Given the description of an element on the screen output the (x, y) to click on. 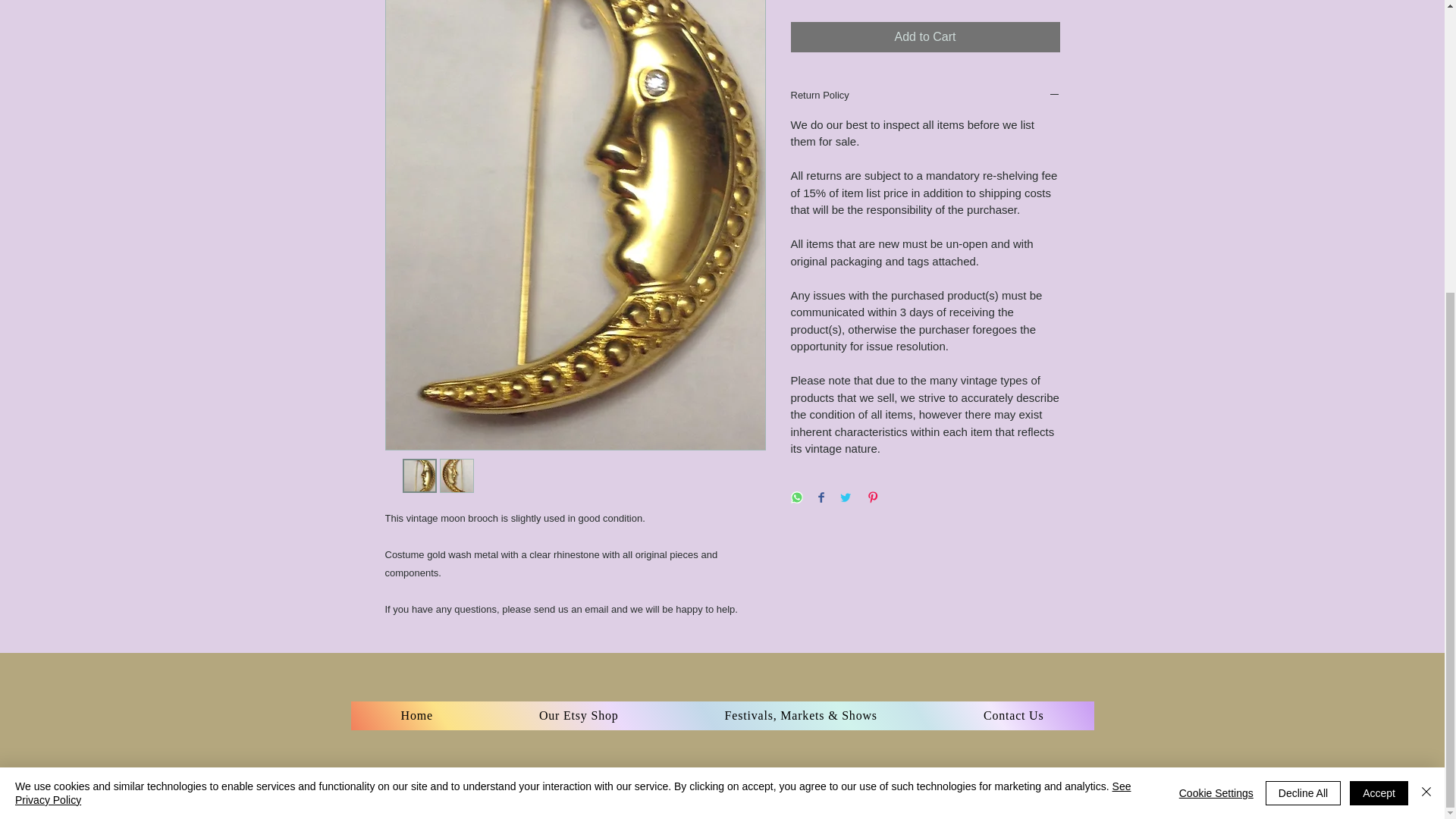
Decline All (1302, 344)
See Privacy Policy (572, 344)
Our Etsy Shop (578, 715)
Accept (1378, 344)
Do Not Sell My Personal Information (996, 804)
Add to Cart (924, 37)
Contact Us (1013, 715)
Home (415, 715)
Return Policy (924, 96)
